Given the description of an element on the screen output the (x, y) to click on. 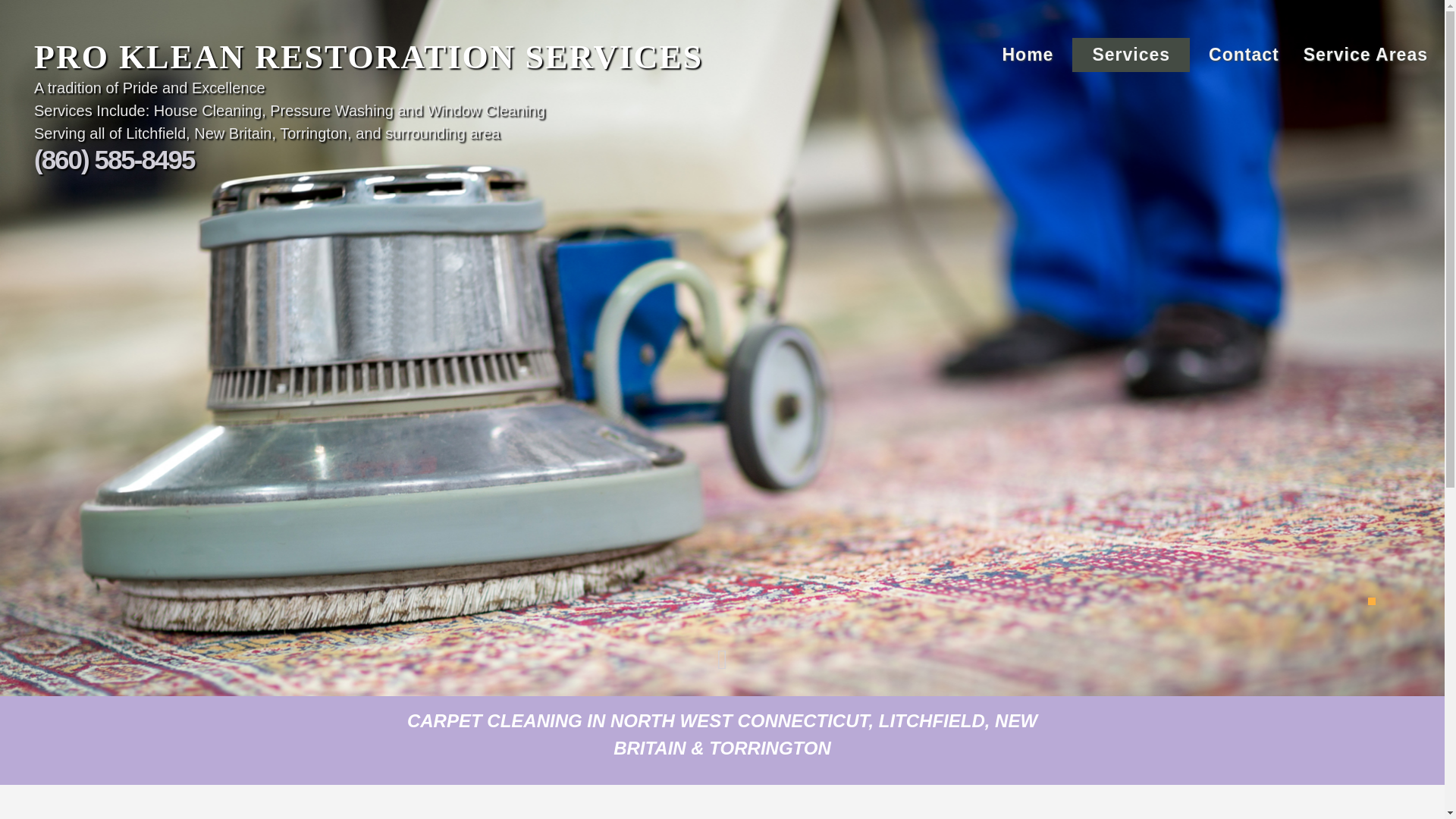
Carpet Cleaning (1130, 123)
Pressure Washing (1130, 327)
Apartment Cleaning (1130, 89)
Window Cleaning (1130, 293)
Fire Damage Restoration (1130, 157)
Service Areas (1365, 54)
PRO KLEAN RESTORATION SERVICES (432, 56)
Contact (1244, 54)
Major House Cleaning (1130, 191)
Services (1130, 54)
Move-Out Cleaning (1130, 259)
Move-In Cleaning (1130, 225)
Home (1026, 54)
1 (1371, 601)
